Given the description of an element on the screen output the (x, y) to click on. 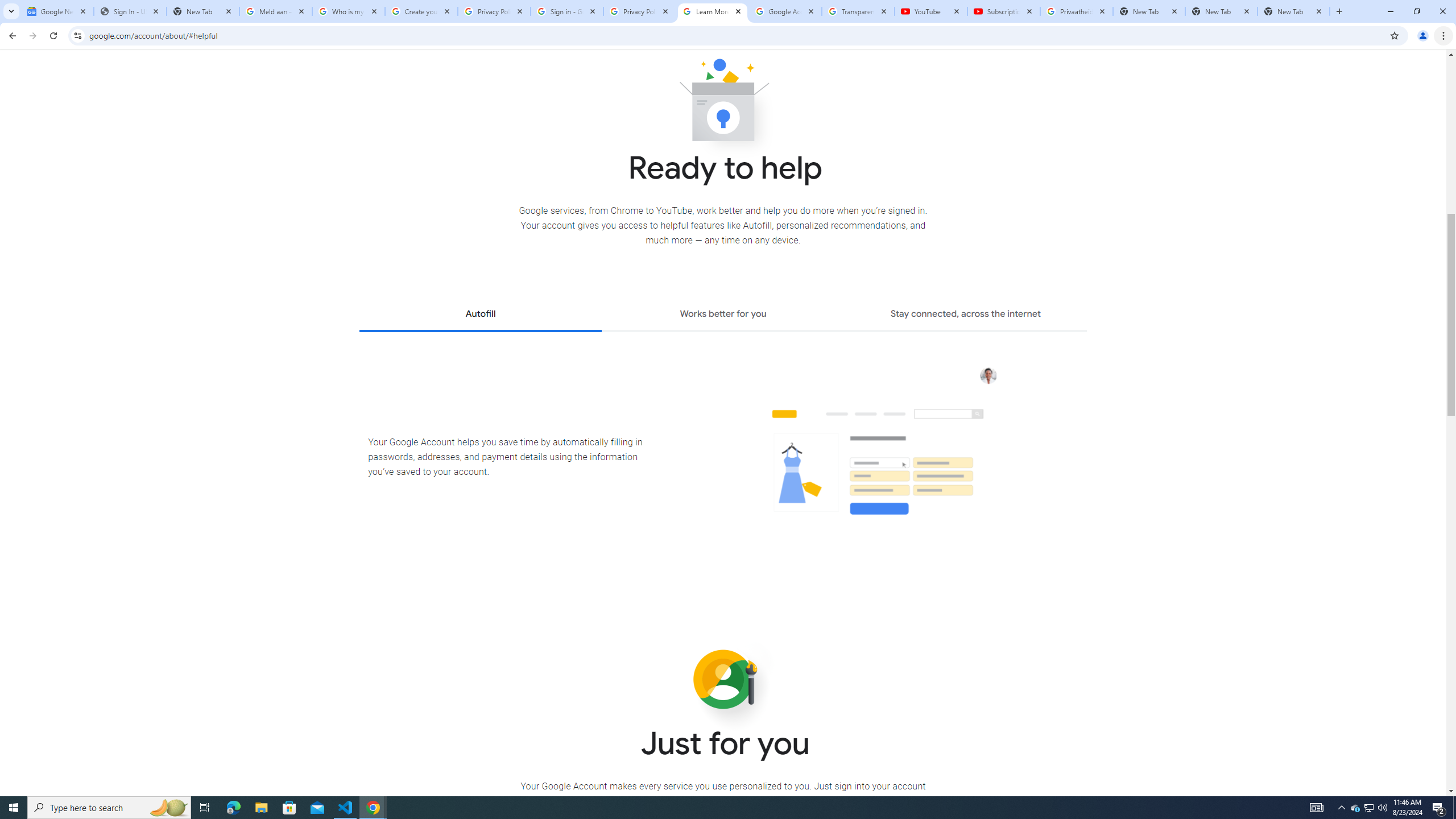
Google News (57, 11)
YouTube (930, 11)
Ready to help (722, 103)
Subscriptions - YouTube (1003, 11)
Autofill (480, 315)
